Given the description of an element on the screen output the (x, y) to click on. 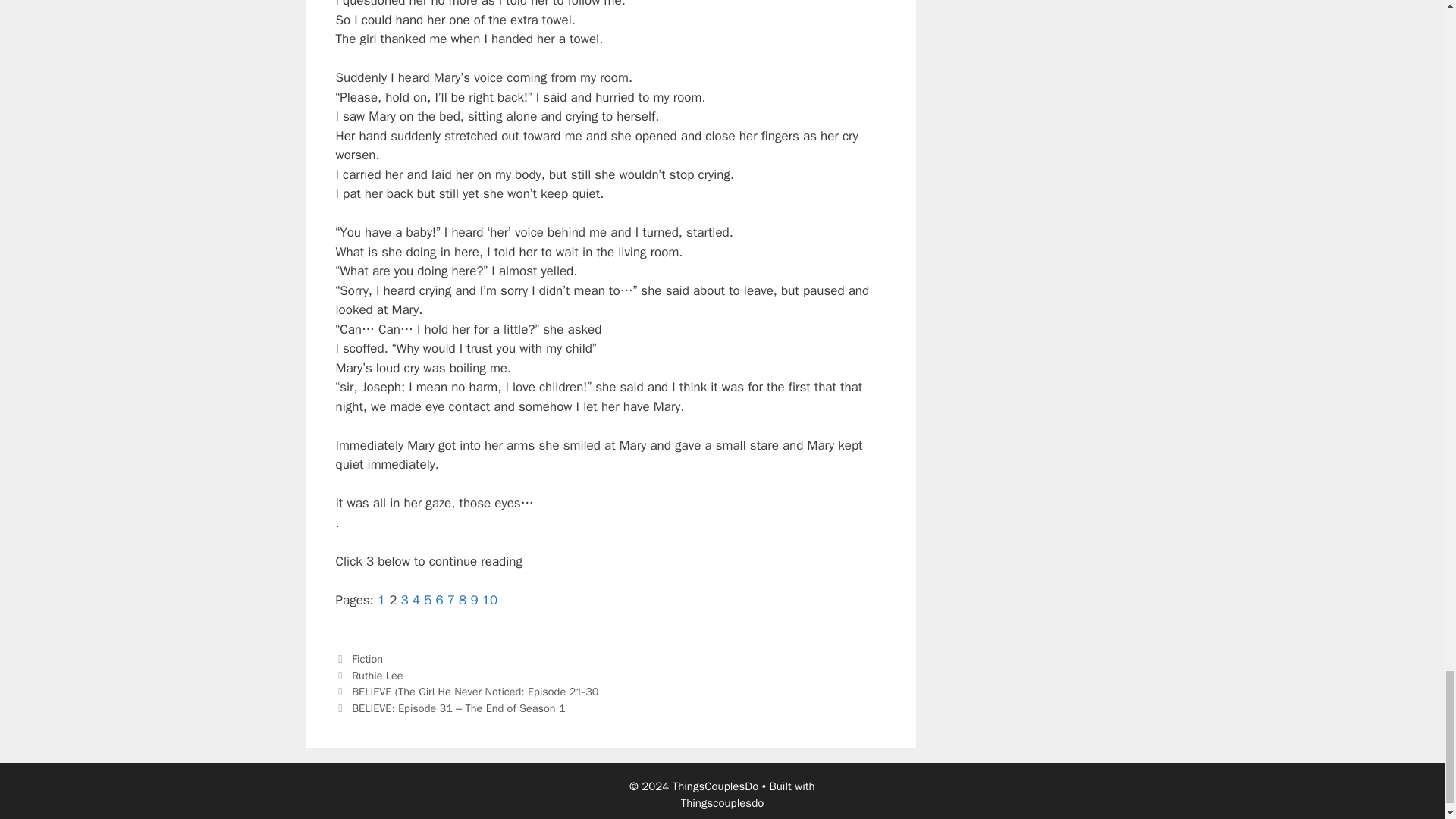
10 (489, 600)
Thingscouplesdo (722, 802)
Fiction (367, 658)
Ruthie Lee (377, 675)
